Given the description of an element on the screen output the (x, y) to click on. 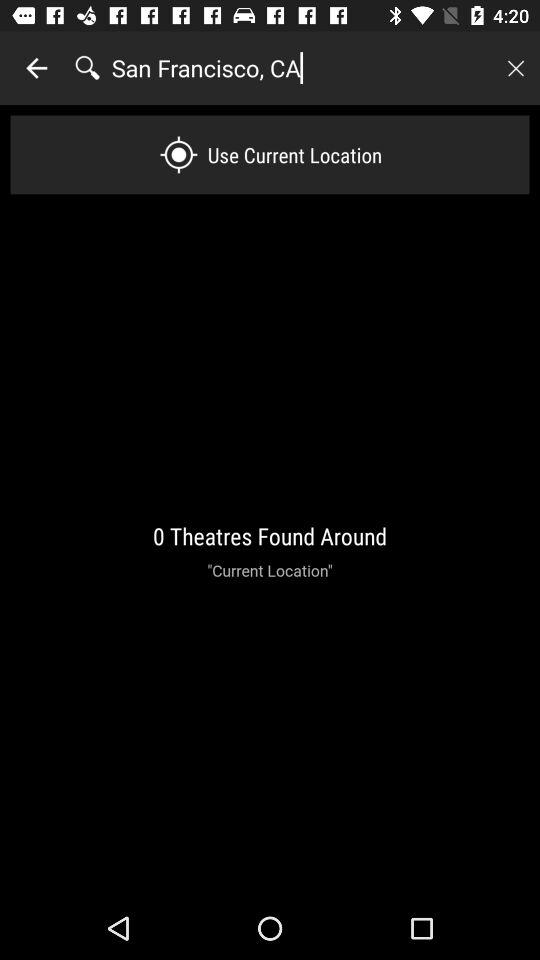
select the san francisco, ca (301, 67)
